Given the description of an element on the screen output the (x, y) to click on. 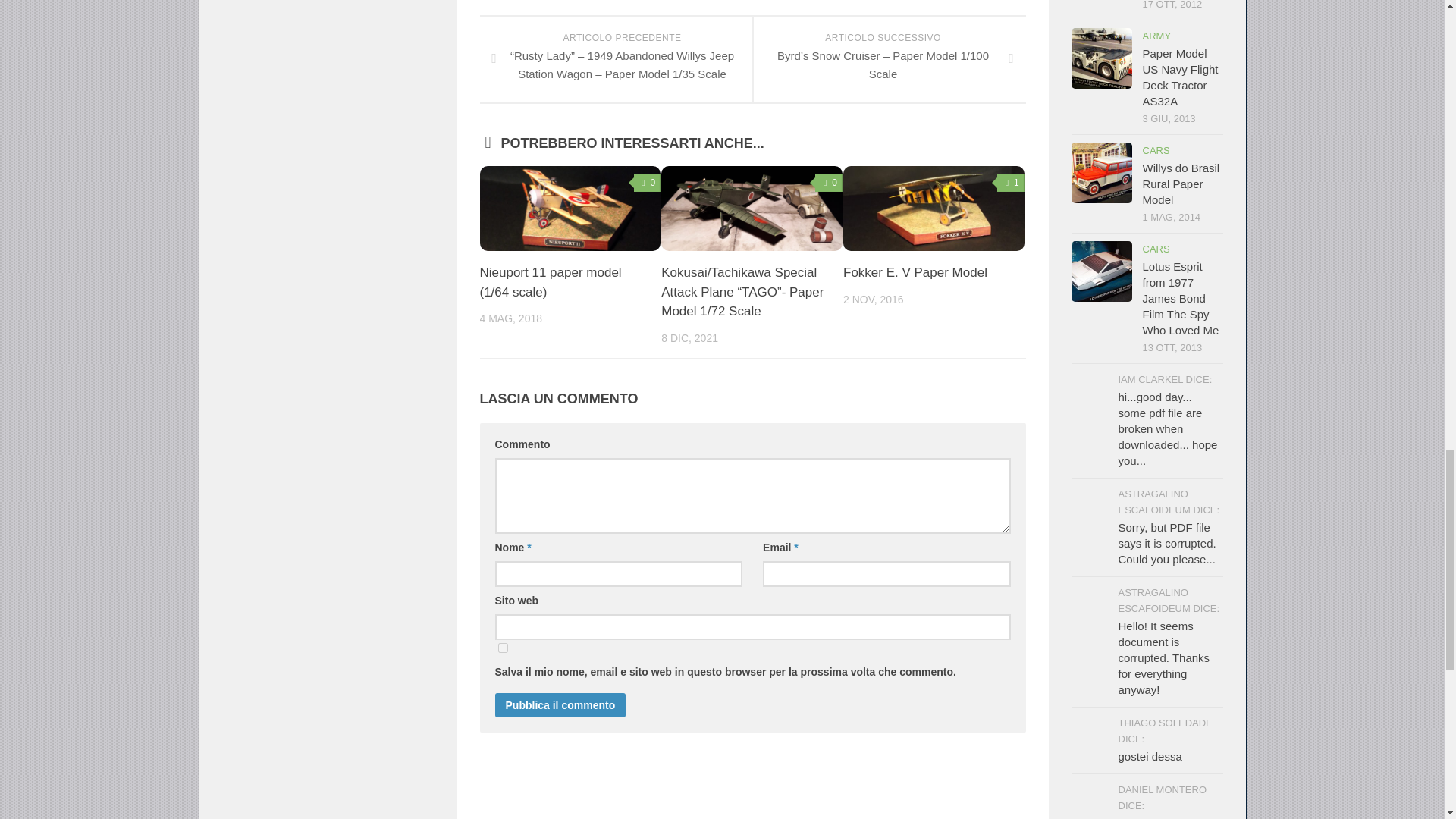
Fokker E. V Paper Model (915, 272)
yes (501, 647)
Fokker E. V Paper Model (934, 208)
1 (1011, 182)
Pubblica il commento (560, 704)
Pubblica il commento (560, 704)
0 (647, 182)
0 (829, 182)
Fokker E. V Paper Model (915, 272)
